Given the description of an element on the screen output the (x, y) to click on. 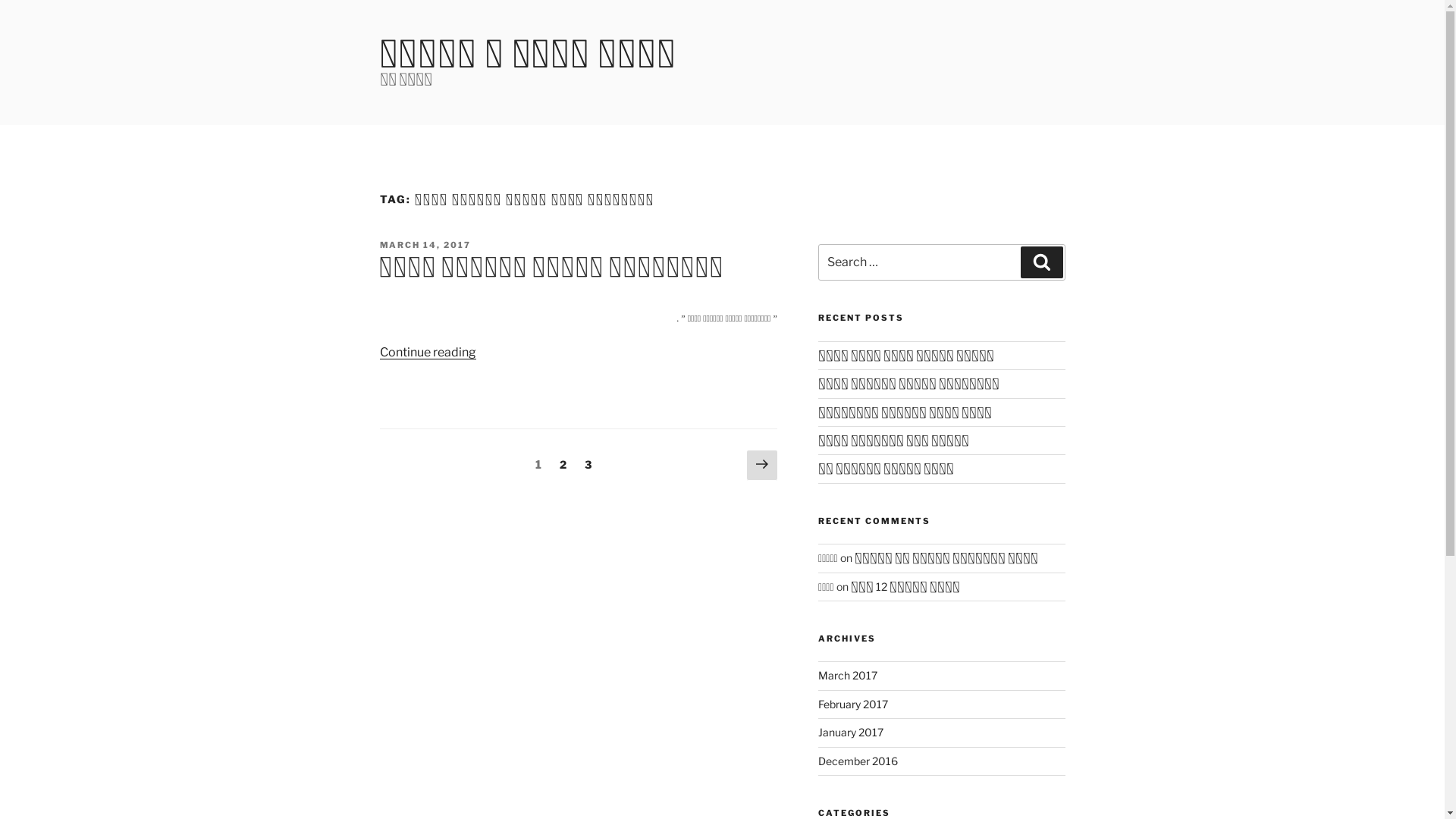
March 2017 Element type: text (847, 674)
January 2017 Element type: text (850, 731)
MARCH 14, 2017 Element type: text (424, 244)
December 2016 Element type: text (857, 760)
Page
3 Element type: text (588, 464)
February 2017 Element type: text (853, 703)
Page
2 Element type: text (563, 464)
Next page Element type: text (761, 465)
Search Element type: text (1041, 262)
